Given the description of an element on the screen output the (x, y) to click on. 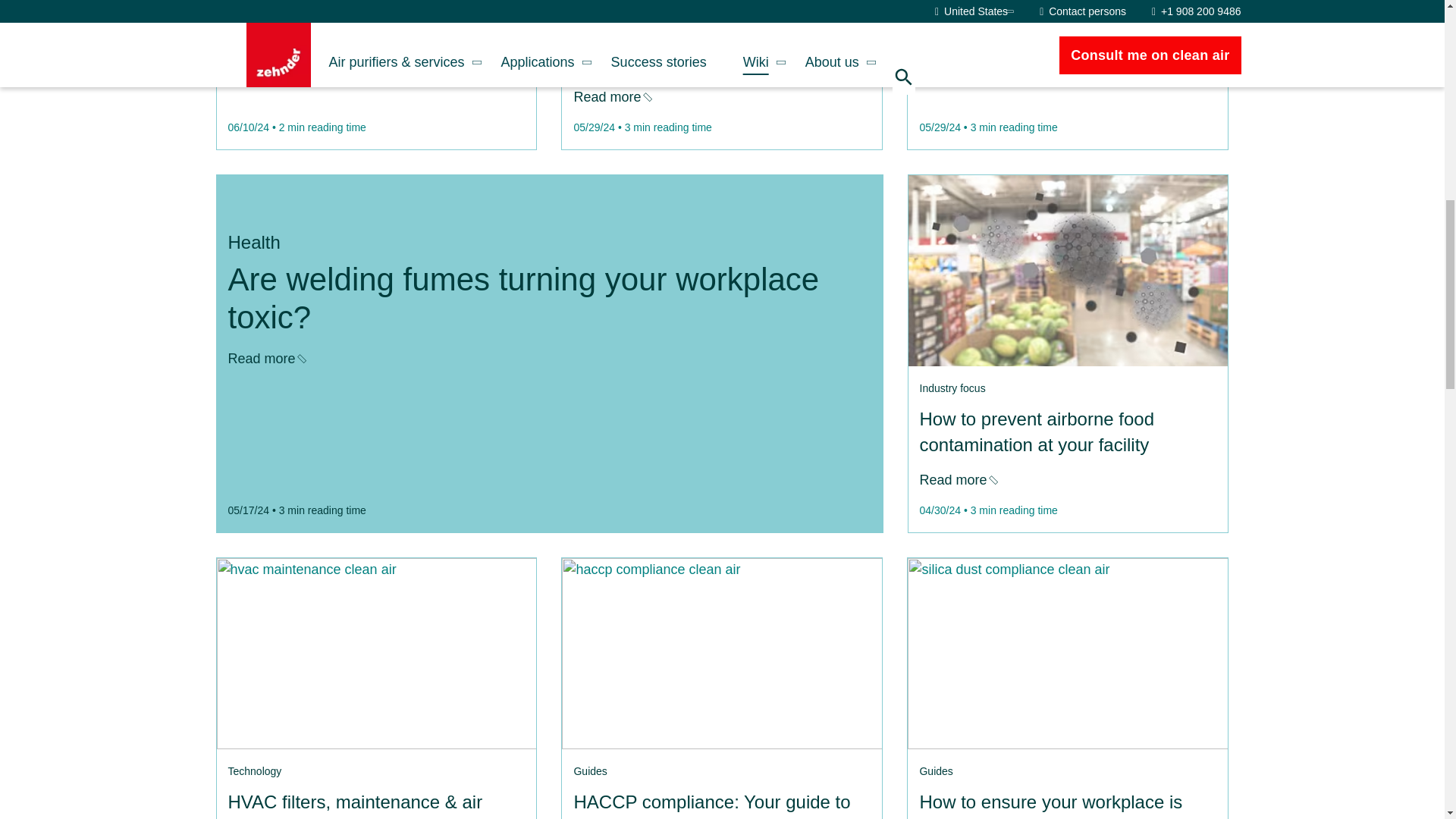
How to prevent airborne food contamination at your facility (956, 479)
How to prevent airborne food contamination at your facility (1066, 270)
Are welding fumes turning your workplace toxic?  (265, 358)
The harmful mental health effects of air pollution (265, 70)
How to ensure your workplace is silica dust safe (1066, 653)
Unseen risks: Clean your air from cardboard dust hazards (721, 653)
